Given the description of an element on the screen output the (x, y) to click on. 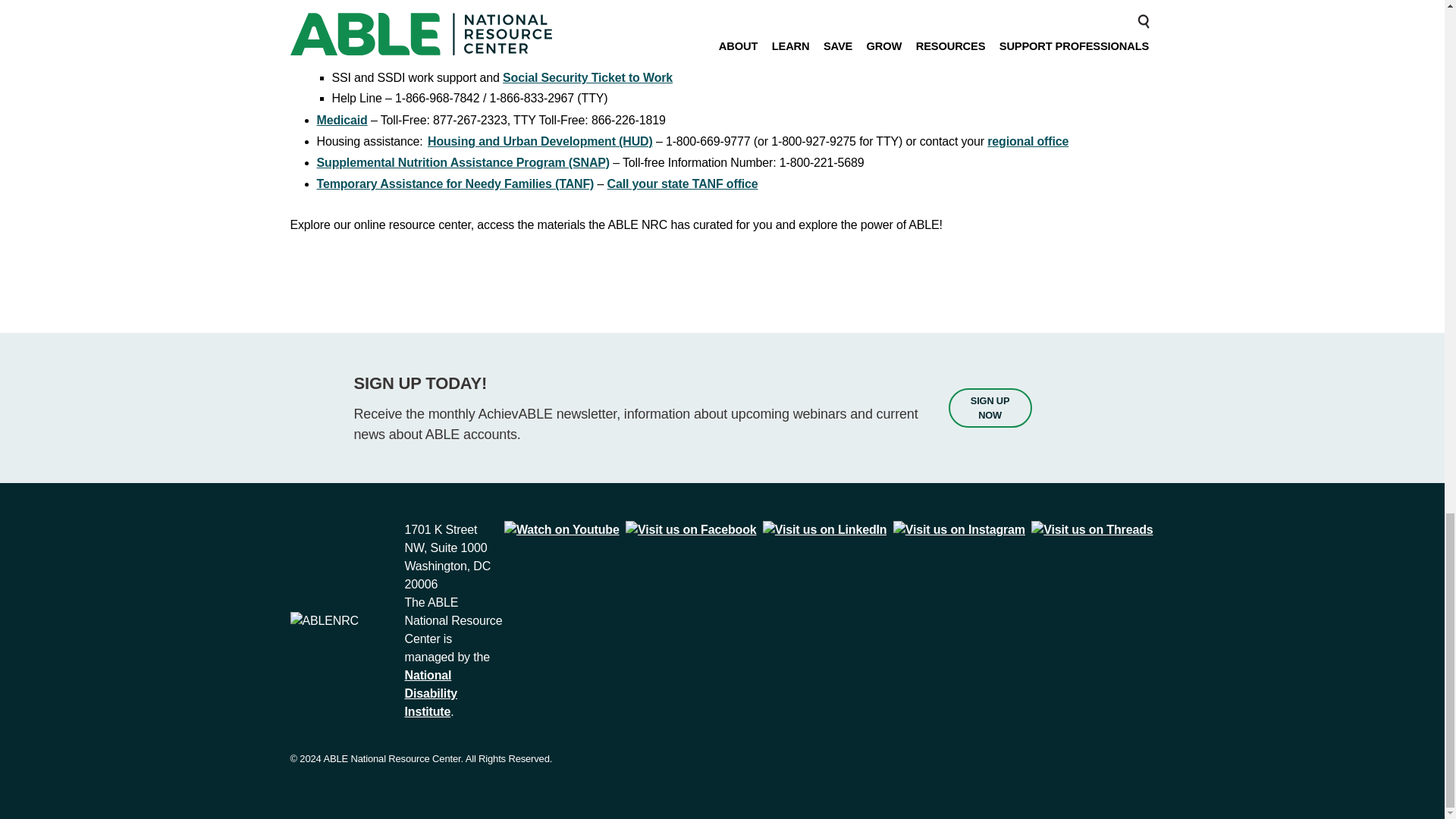
Visit us on Instagram (959, 529)
Visit us on Threads (1091, 529)
Visit us on Facebook (691, 529)
Visit us on LinkedIn (824, 529)
Watch on Youtube (561, 529)
